Given the description of an element on the screen output the (x, y) to click on. 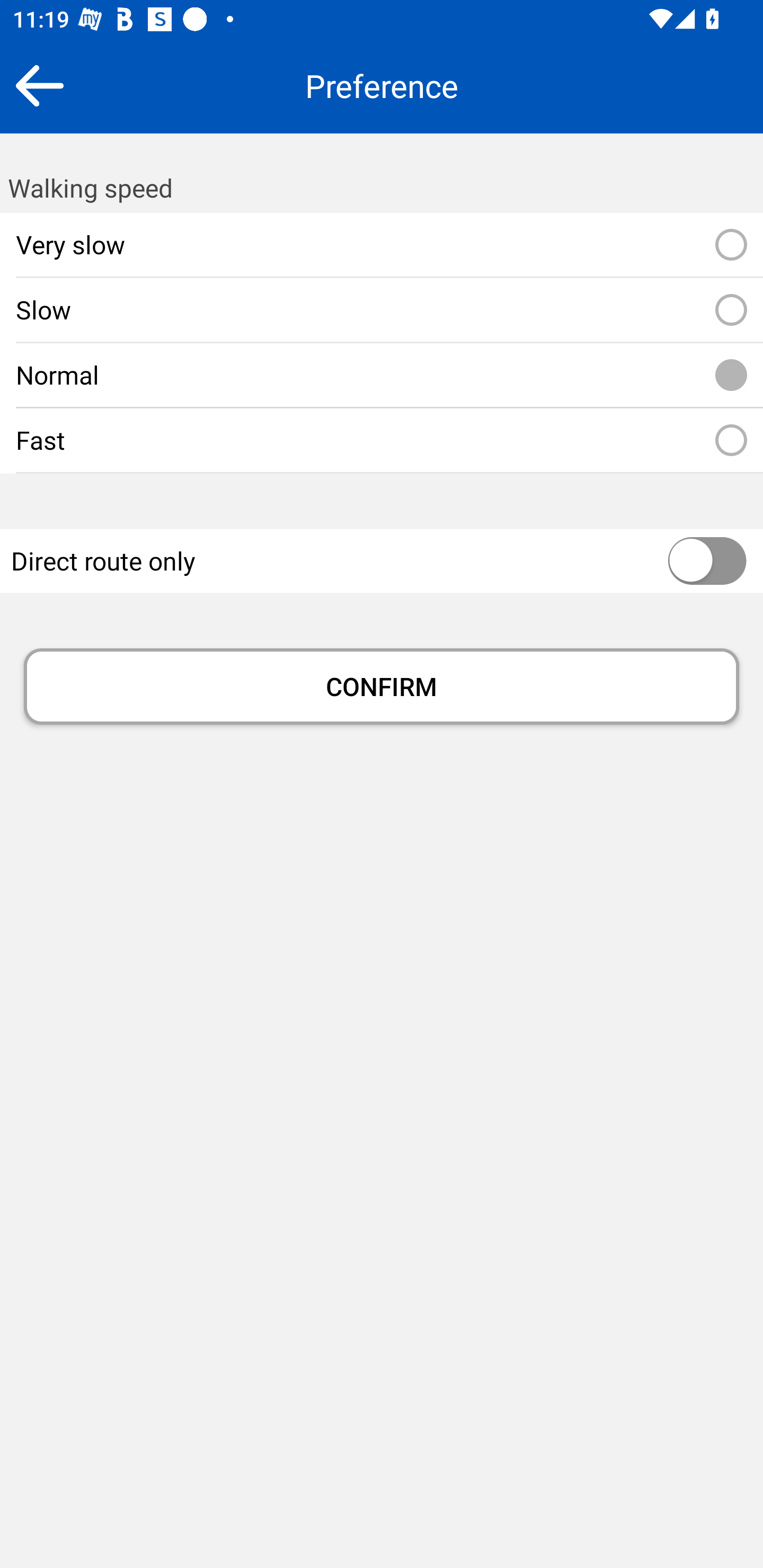
Back (39, 85)
Very slow (730, 244)
Slow (730, 310)
Normal (730, 374)
Fast (730, 440)
Direct route only (668, 560)
CONFIRM (381, 686)
